Given the description of an element on the screen output the (x, y) to click on. 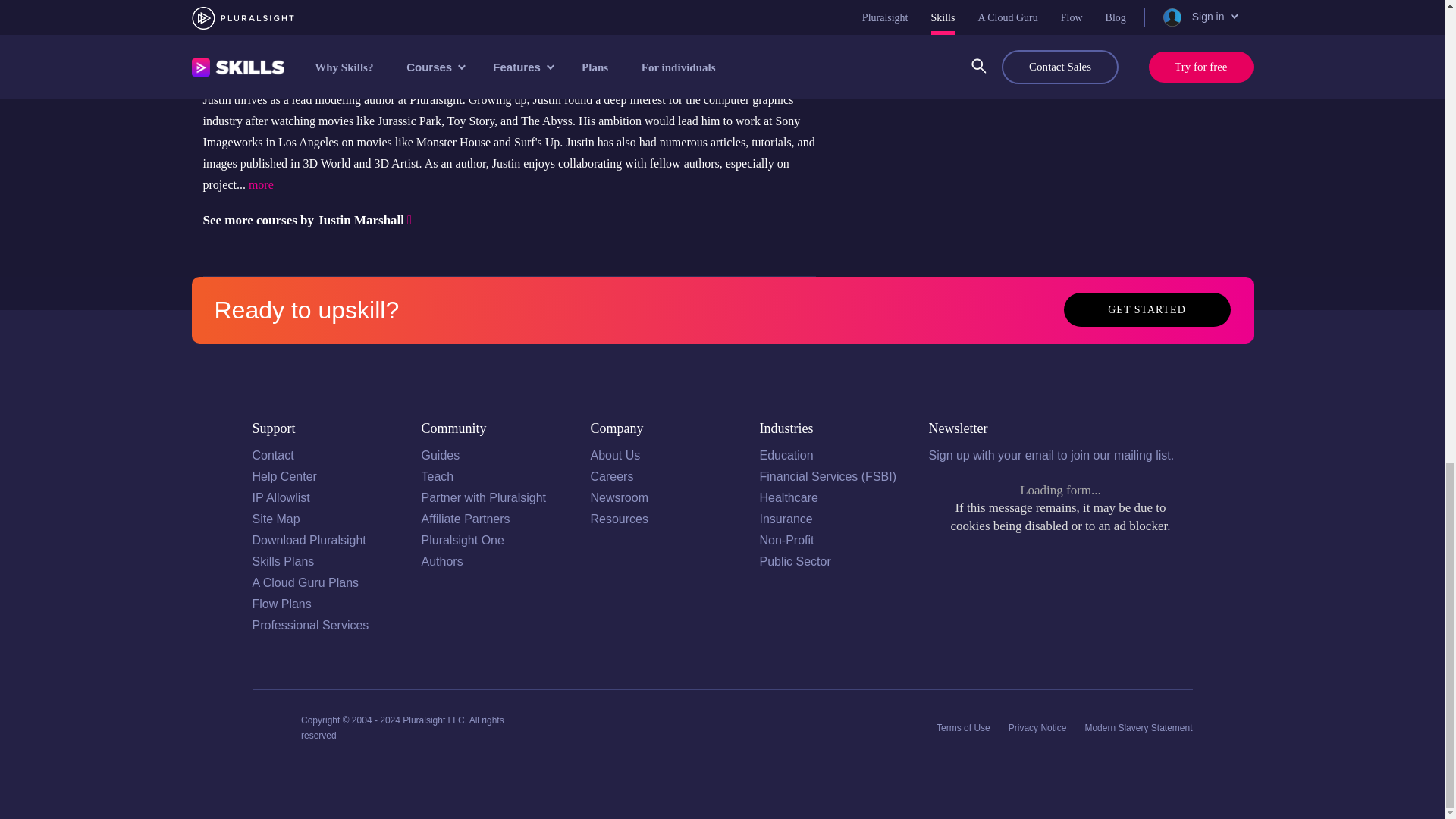
Get started (1146, 309)
